Given the description of an element on the screen output the (x, y) to click on. 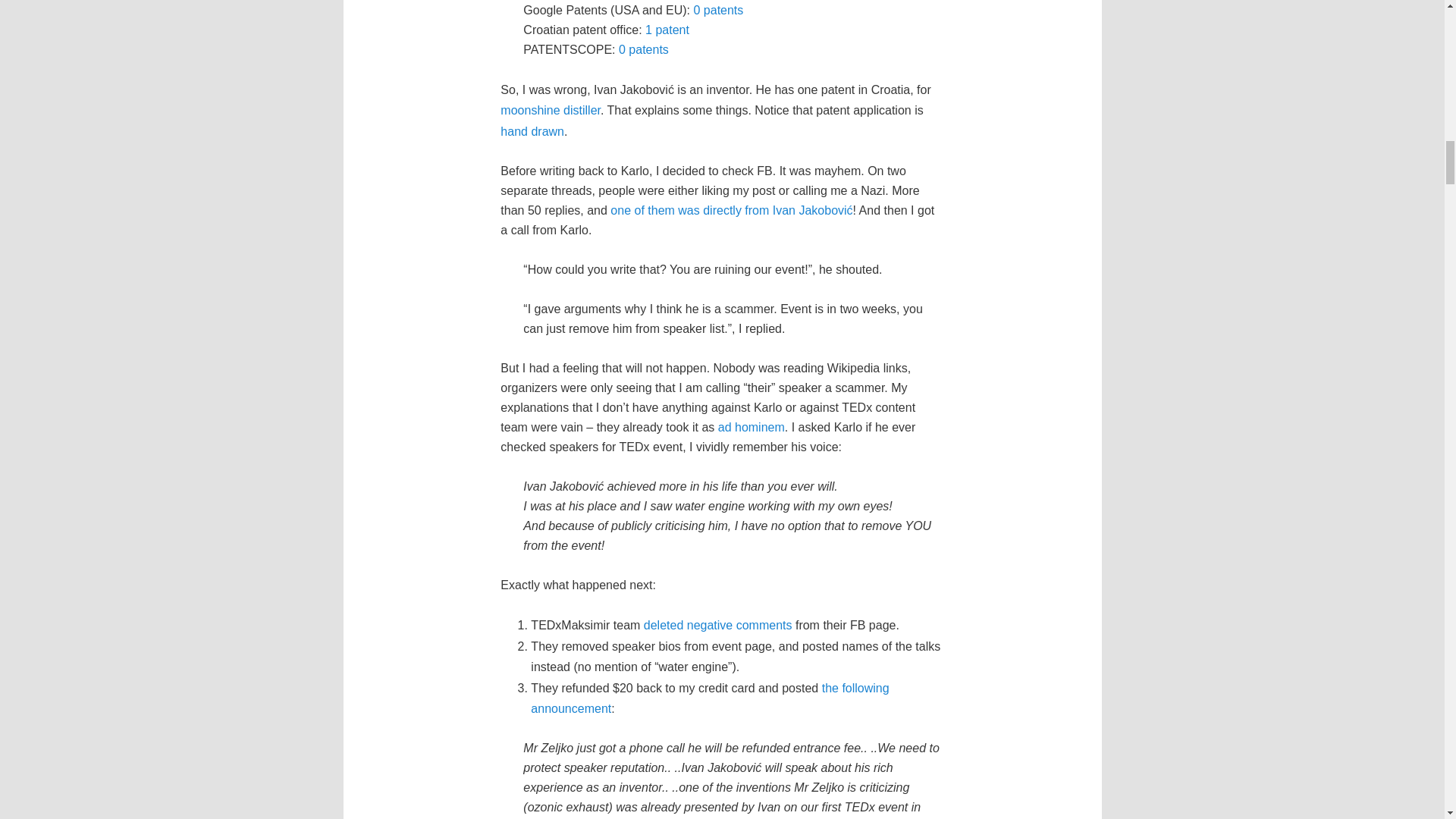
moonshine distiller (549, 110)
0 patents (643, 49)
hand drawn (532, 131)
the following announcement (709, 697)
deleted negative comments (717, 625)
ad hominem (750, 427)
1 patent (666, 29)
0 patents (717, 10)
